Given the description of an element on the screen output the (x, y) to click on. 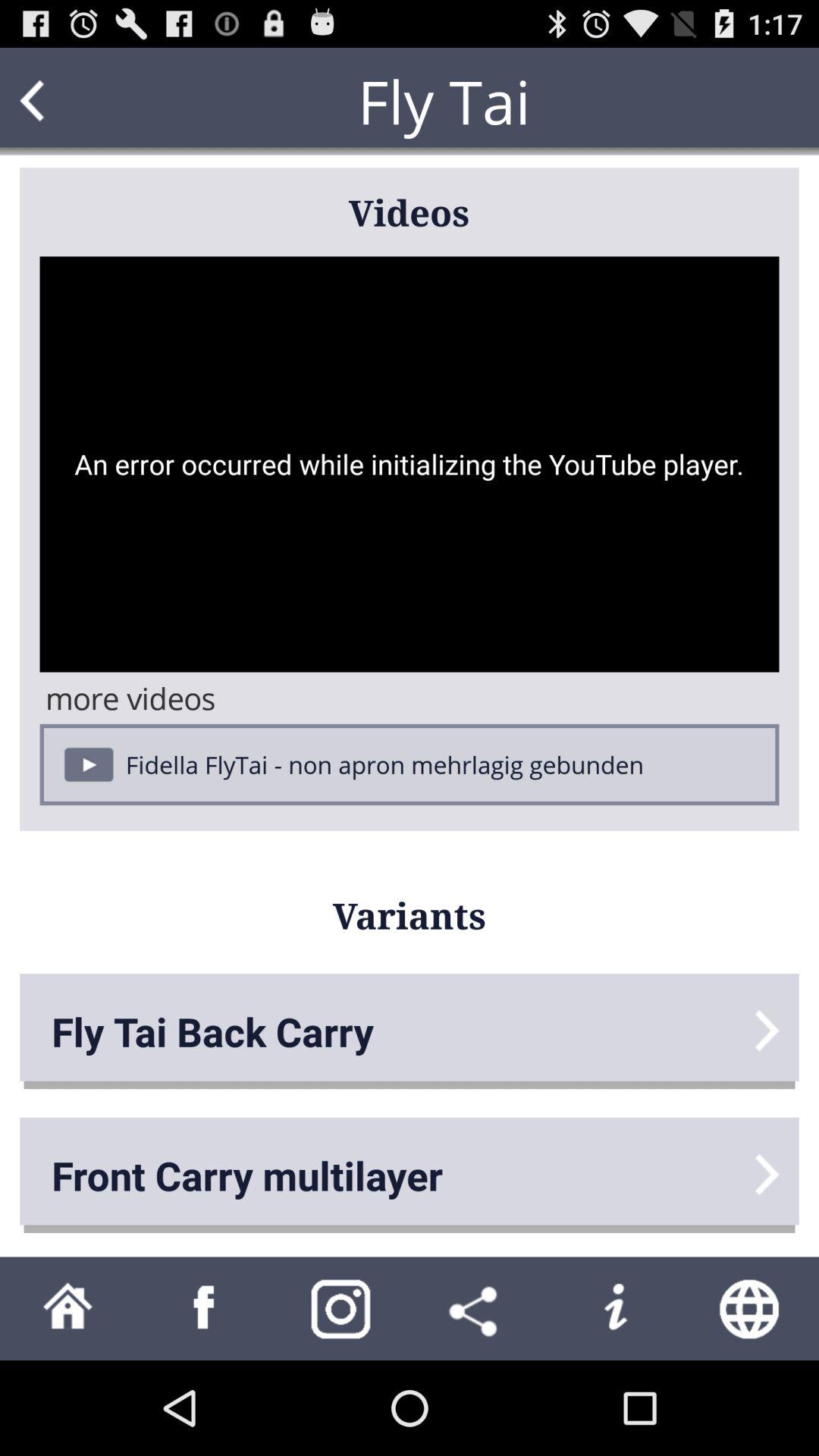
go back (61, 101)
